Given the description of an element on the screen output the (x, y) to click on. 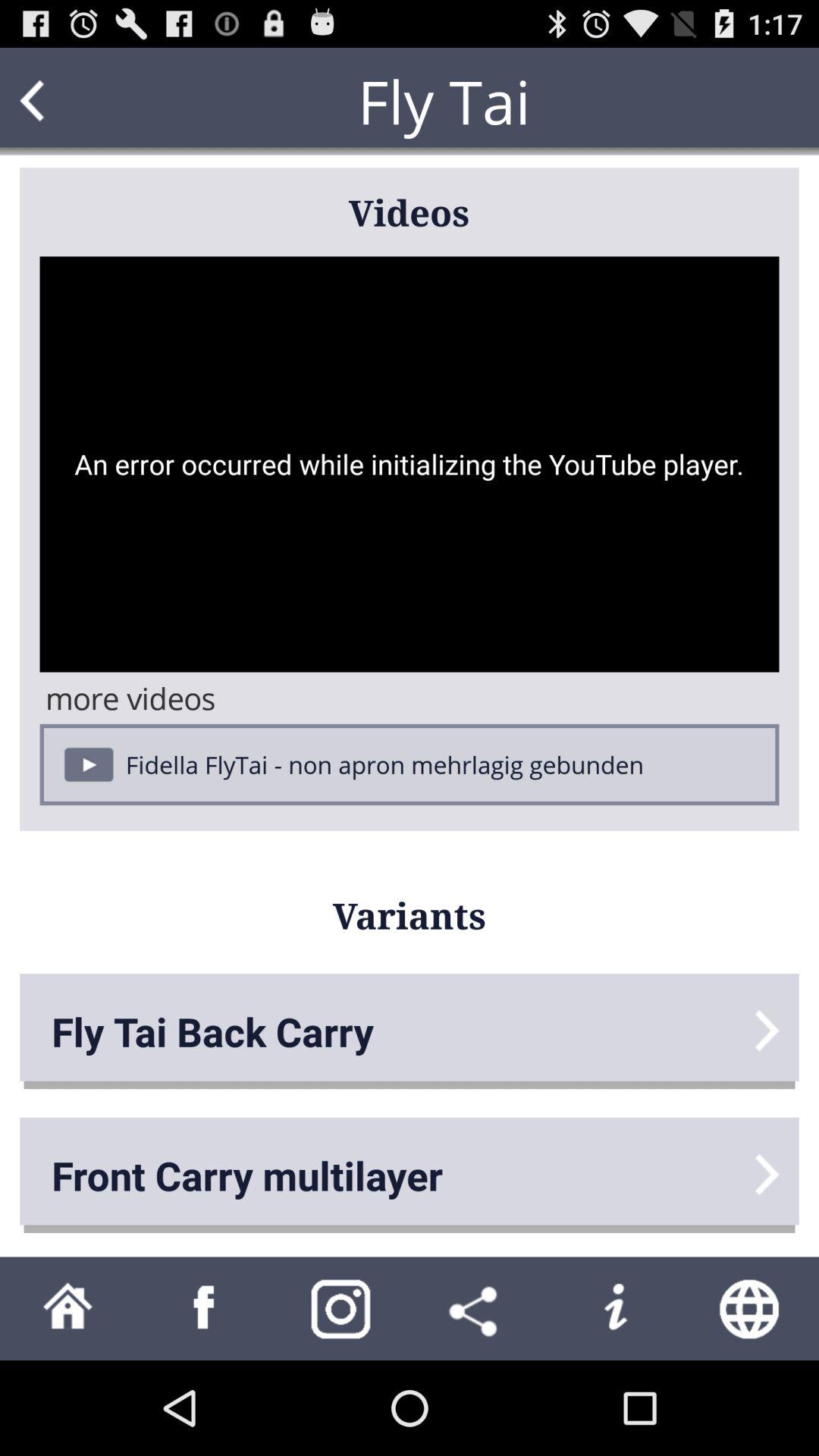
go back (61, 101)
